Given the description of an element on the screen output the (x, y) to click on. 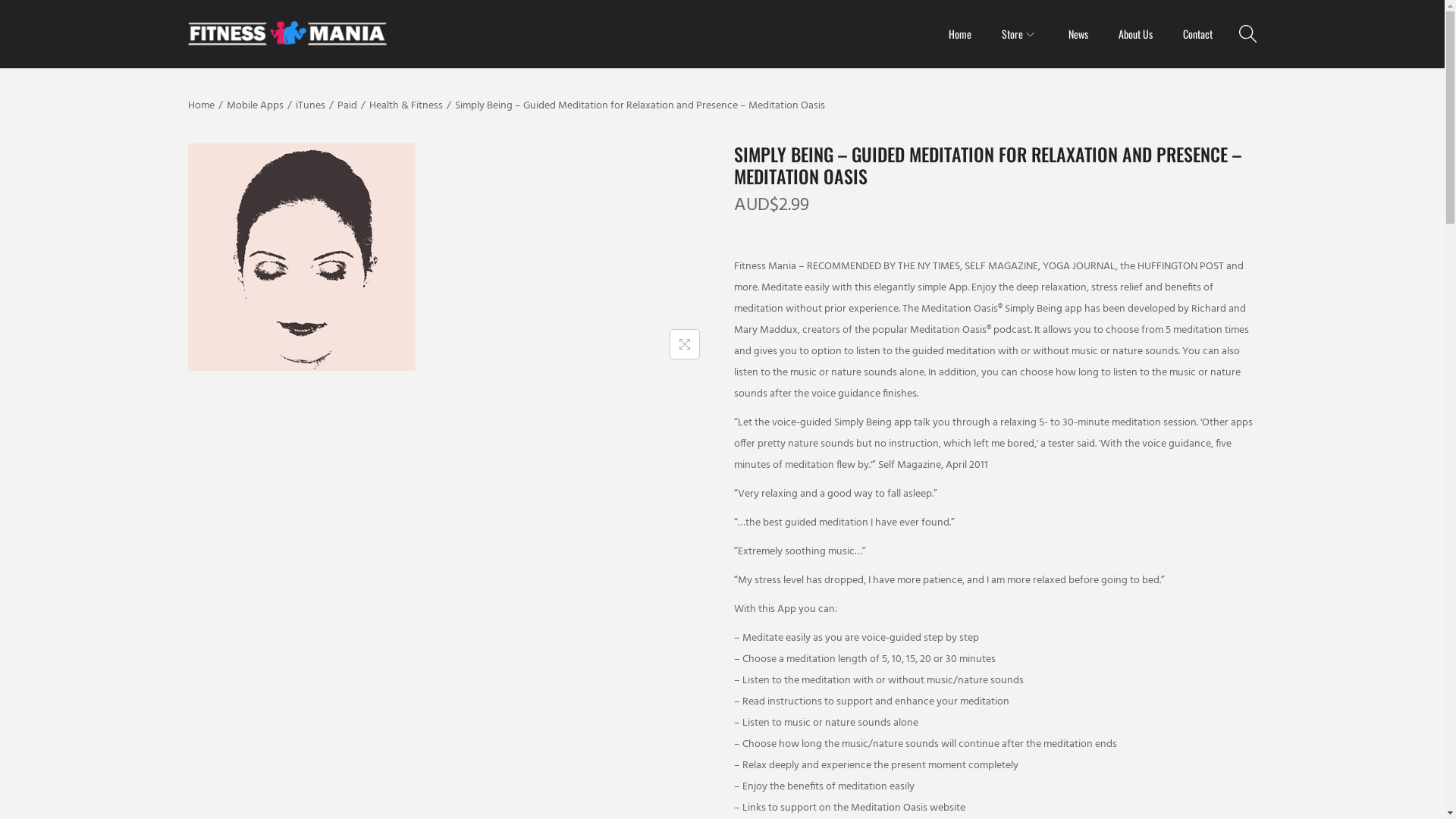
iTunes Element type: text (310, 105)
Mobile Apps Element type: text (253, 105)
Contact Element type: text (1197, 34)
Home Element type: text (201, 105)
Health & Fitness Element type: text (405, 105)
Search Element type: text (950, 428)
Store Element type: text (1019, 34)
News Element type: text (1077, 34)
About Us Element type: text (1134, 34)
Home Element type: text (958, 34)
Paid Element type: text (346, 105)
